Given the description of an element on the screen output the (x, y) to click on. 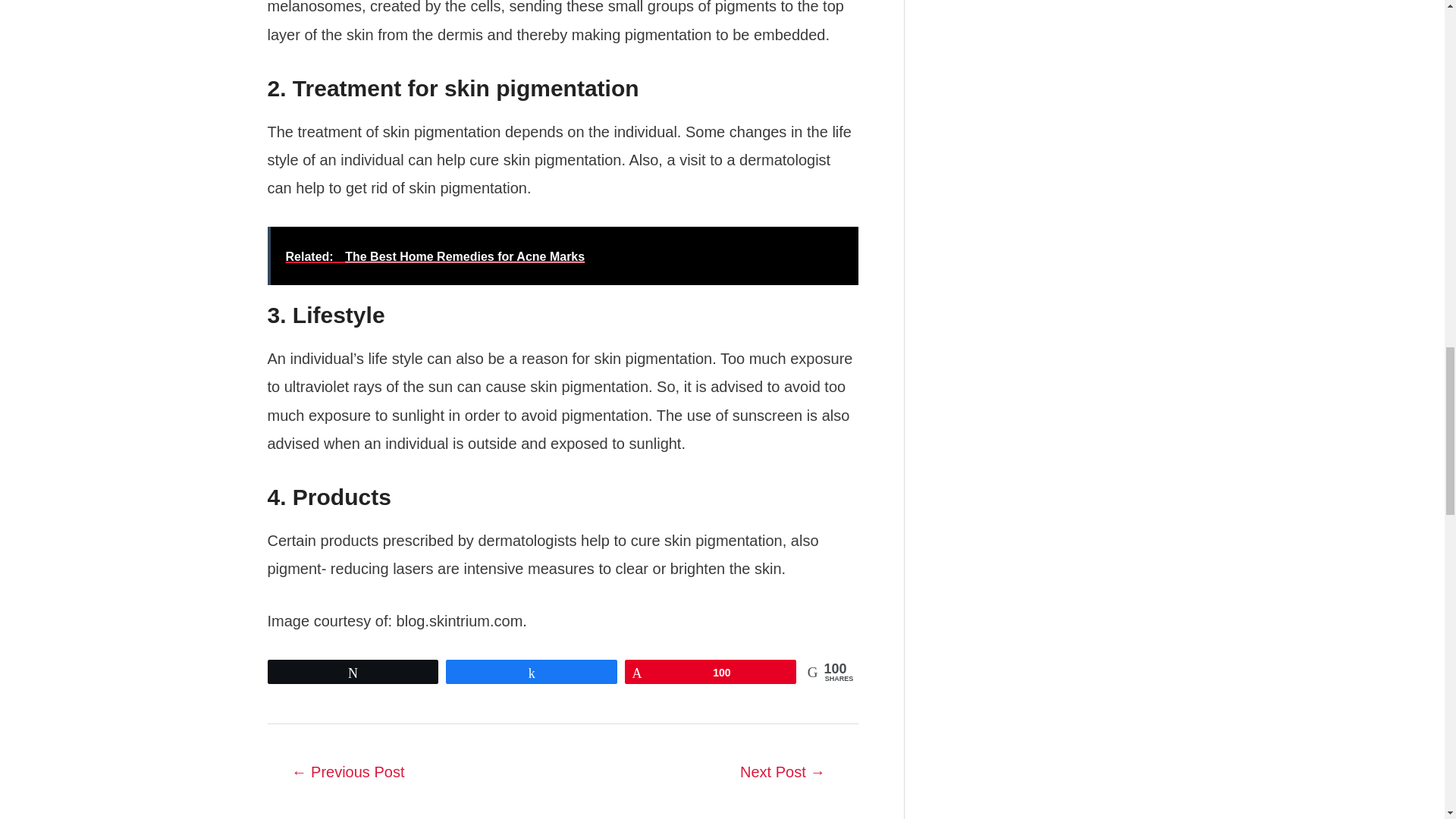
100 (710, 671)
Related:   The Best Home Remedies for Acne Marks (561, 255)
3 Flat Belly Shortcuts (783, 773)
5 Important Benefits of Walking (346, 773)
